Given the description of an element on the screen output the (x, y) to click on. 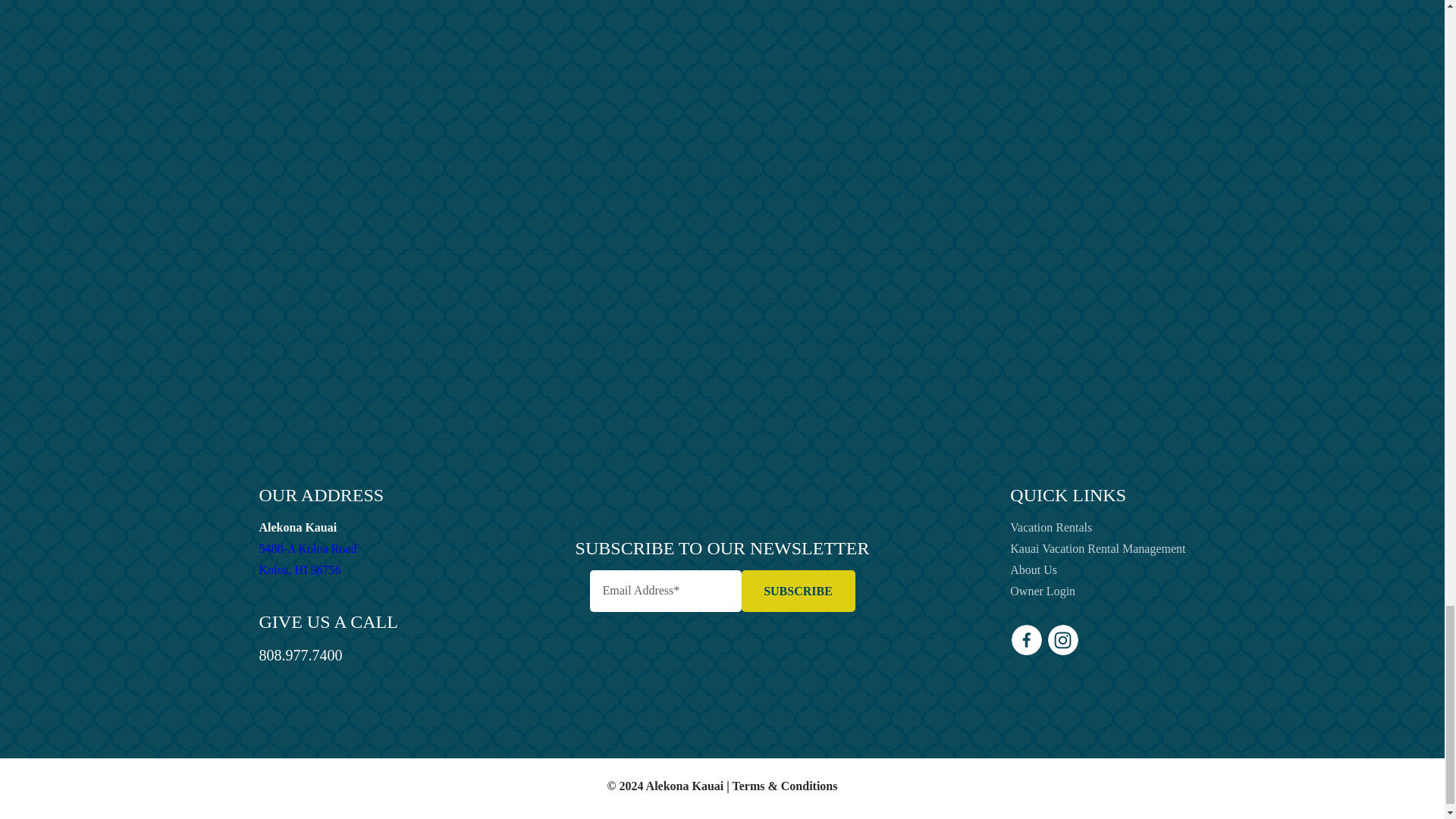
HOLIDAYS (1090, 22)
FOOD (958, 318)
VACATION RENTALS (944, 284)
Subscribe (986, 389)
ACTIVITIES (798, 590)
SHOPPING (961, 214)
FEATURED (957, 354)
